Given the description of an element on the screen output the (x, y) to click on. 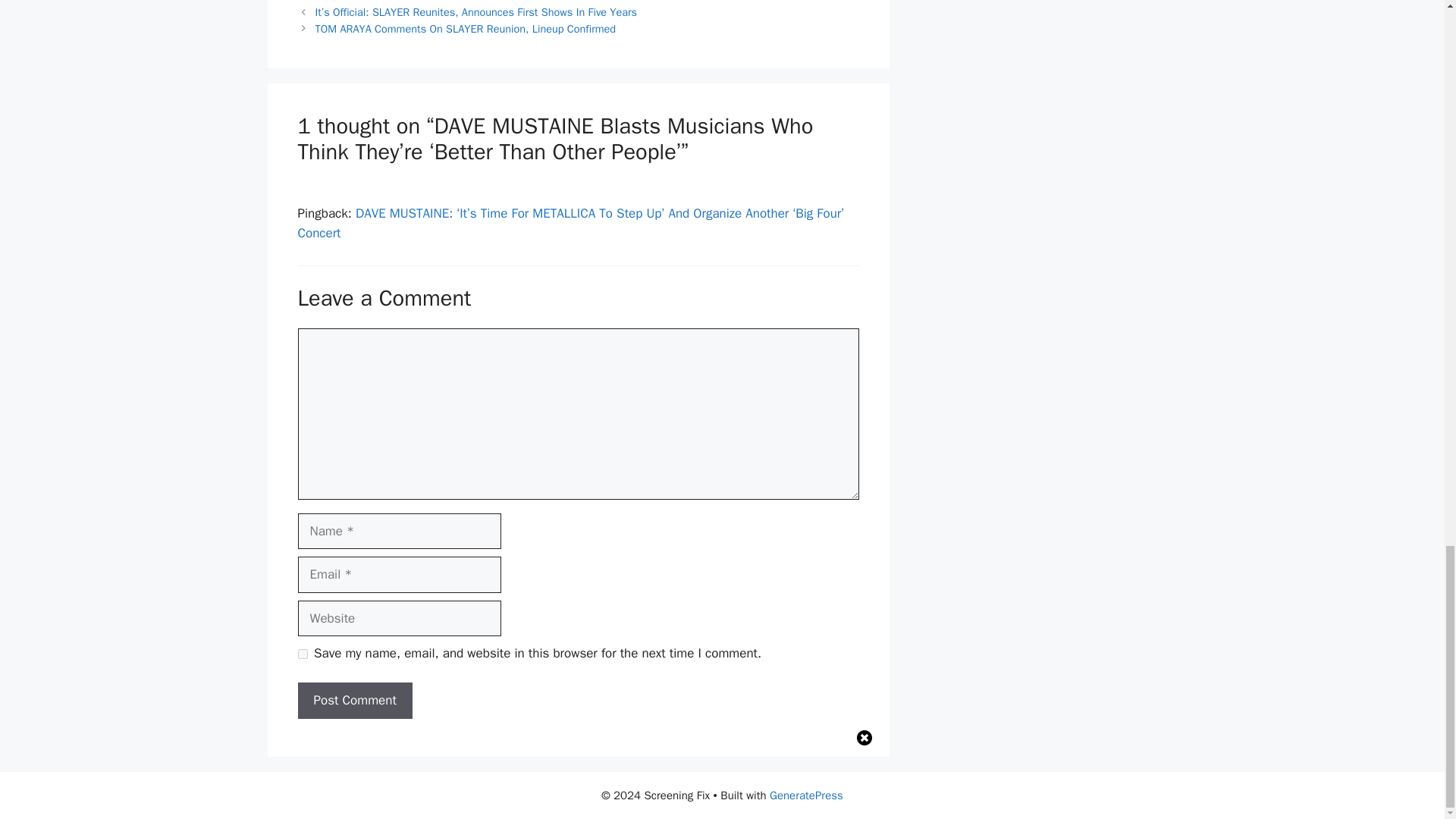
TOM ARAYA Comments On SLAYER Reunion, Lineup Confirmed (465, 29)
Post Comment (354, 700)
Metal (328, 1)
yes (302, 654)
Post Comment (354, 700)
GeneratePress (806, 795)
